Given the description of an element on the screen output the (x, y) to click on. 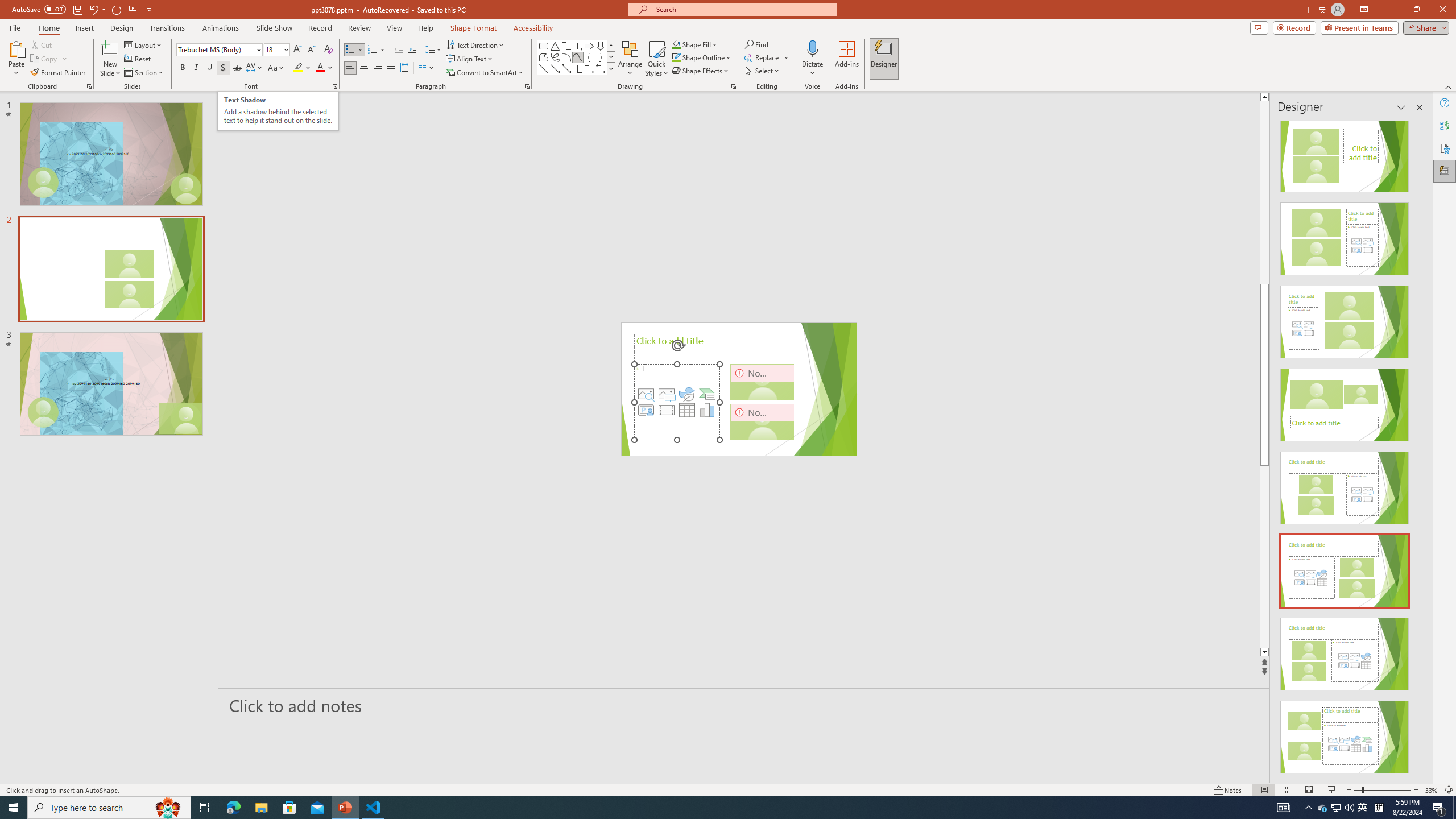
Zoom 33% (1431, 790)
